Given the description of an element on the screen output the (x, y) to click on. 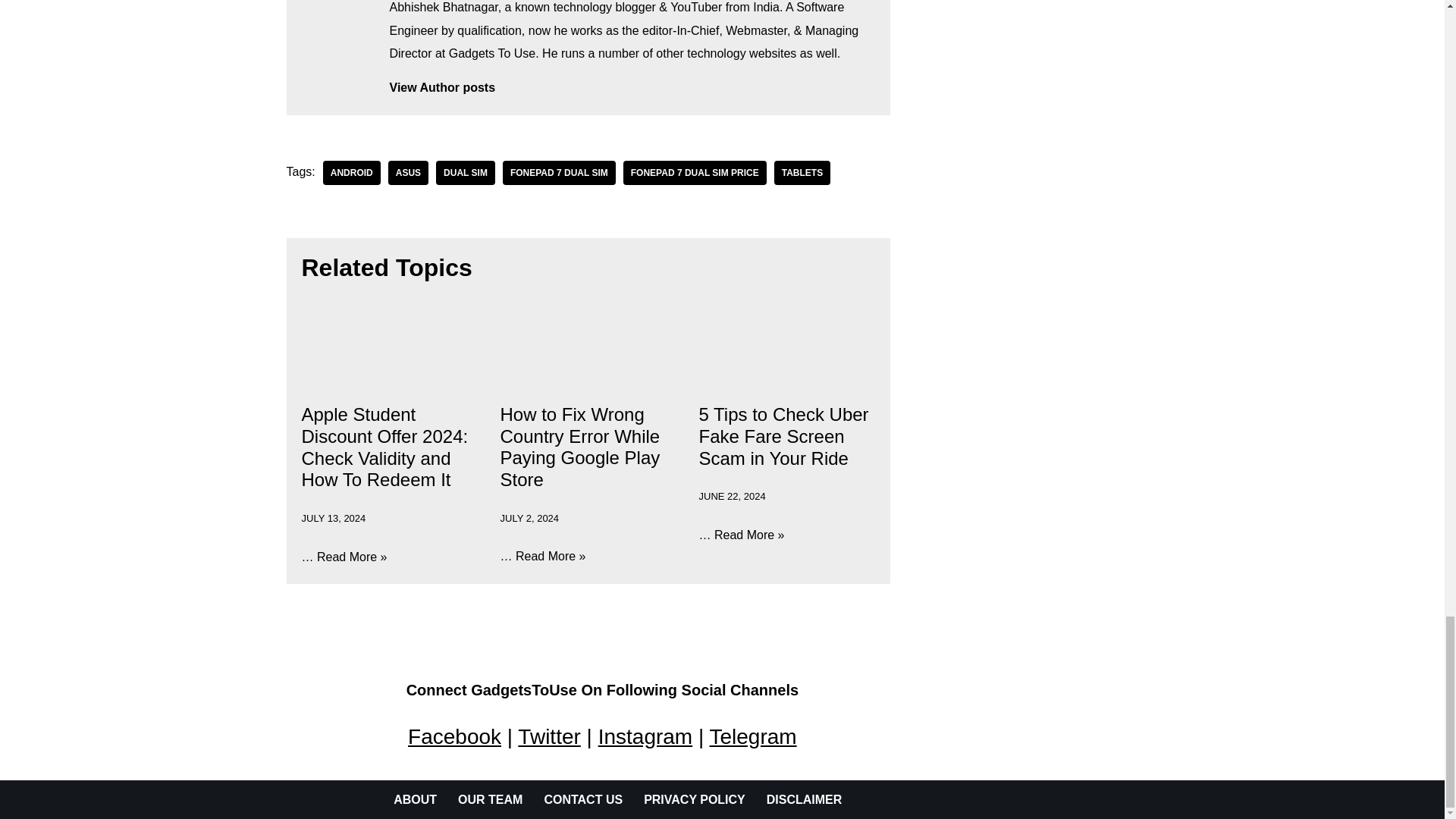
FONEPAD 7 DUAL SIM (558, 172)
FONEPAD 7 DUAL SIM PRICE (695, 172)
ASUS (408, 172)
Tablets (801, 172)
Fonepad 7 Dual SIM price (695, 172)
dual sim (465, 172)
DUAL SIM (465, 172)
Fonepad 7 Dual SIM (558, 172)
View Author posts (632, 87)
5 Tips to Check Uber Fake Fare Screen Scam in Your Ride (783, 436)
TABLETS (801, 172)
Android (351, 172)
ANDROID (351, 172)
Asus (408, 172)
